Given the description of an element on the screen output the (x, y) to click on. 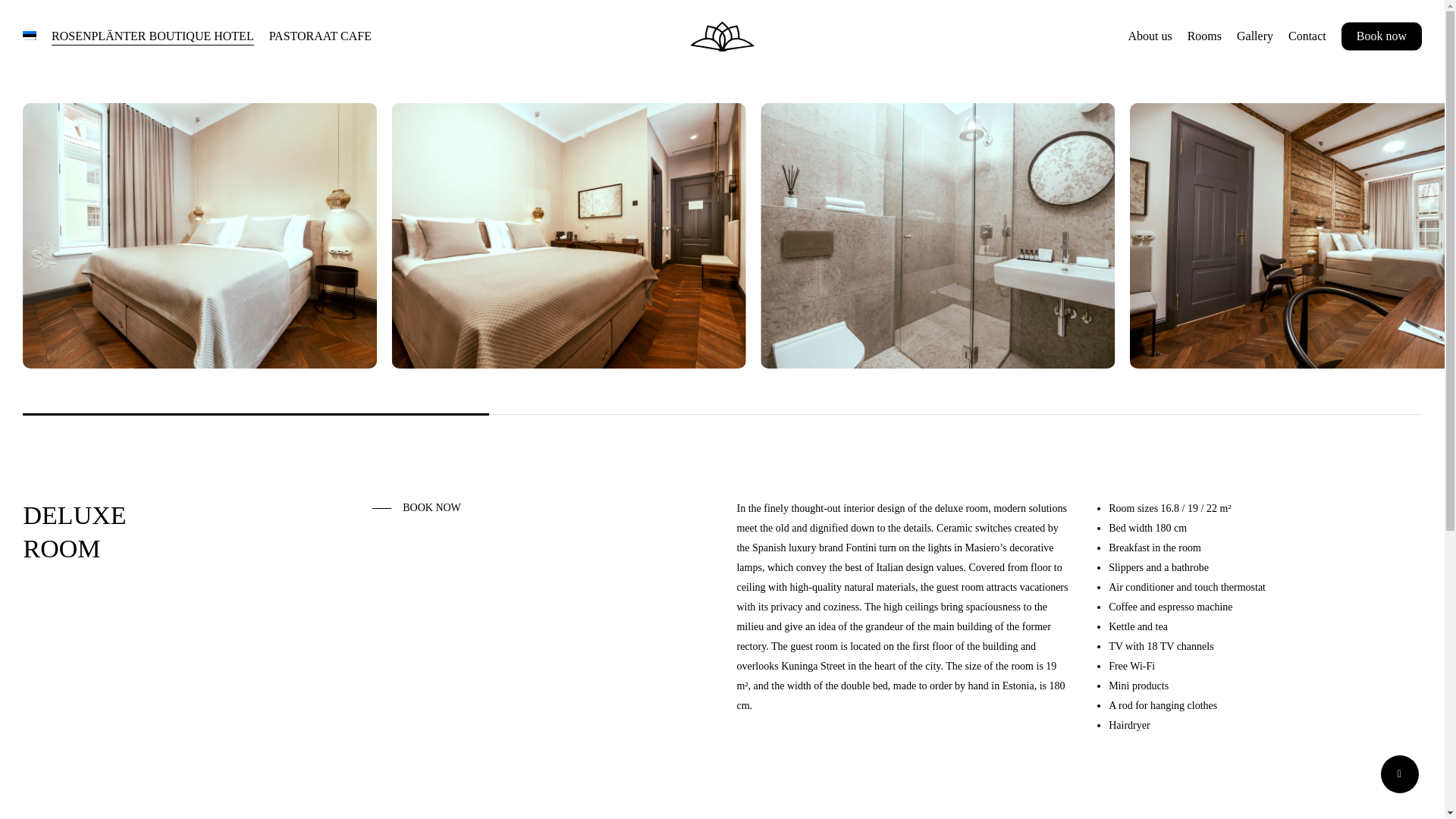
Contact (1307, 36)
PASTORAAT CAFE (320, 36)
Gallery (1254, 36)
BOOK NOW (416, 507)
Book now (1381, 36)
About us (1149, 36)
Rooms (1204, 36)
